Given the description of an element on the screen output the (x, y) to click on. 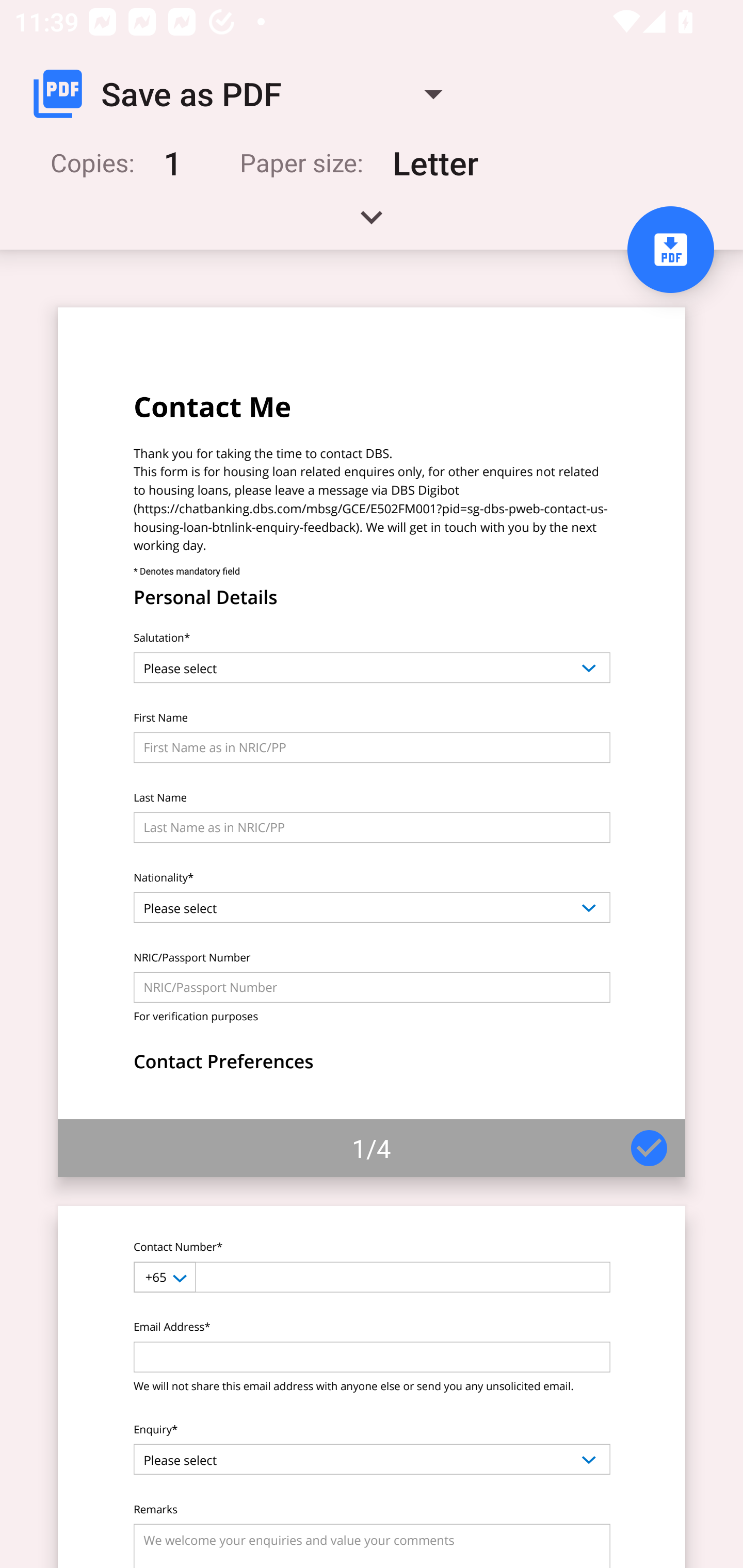
Save as PDF (245, 93)
Expand handle (371, 224)
Save to PDF (670, 249)
Page 1 of 4 1/4 (371, 742)
Page 2 of 4 (371, 1386)
